Given the description of an element on the screen output the (x, y) to click on. 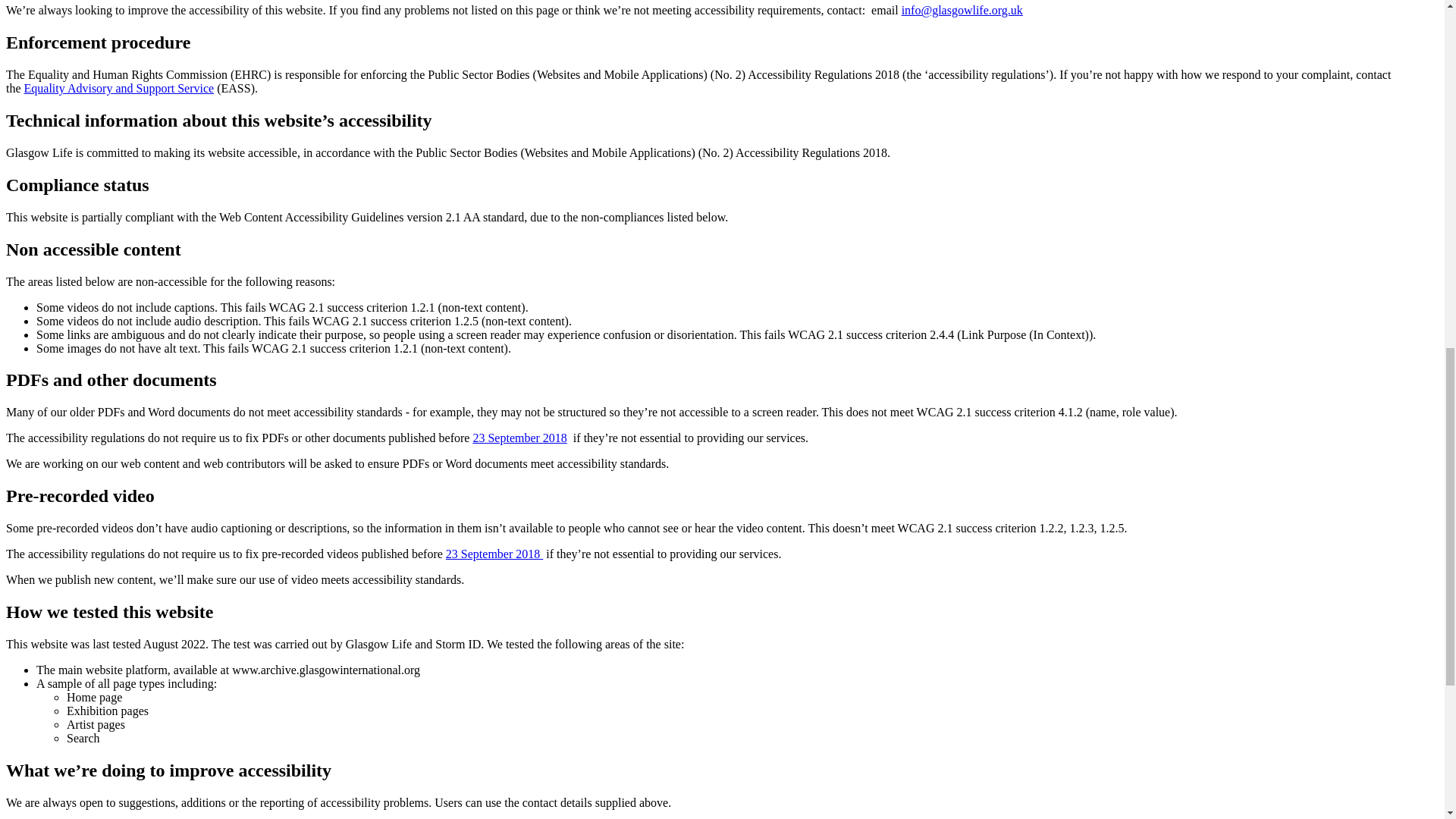
23 September 2018 (518, 437)
23 September 2018  (494, 553)
Equality Advisory and Support Service (119, 88)
